Given the description of an element on the screen output the (x, y) to click on. 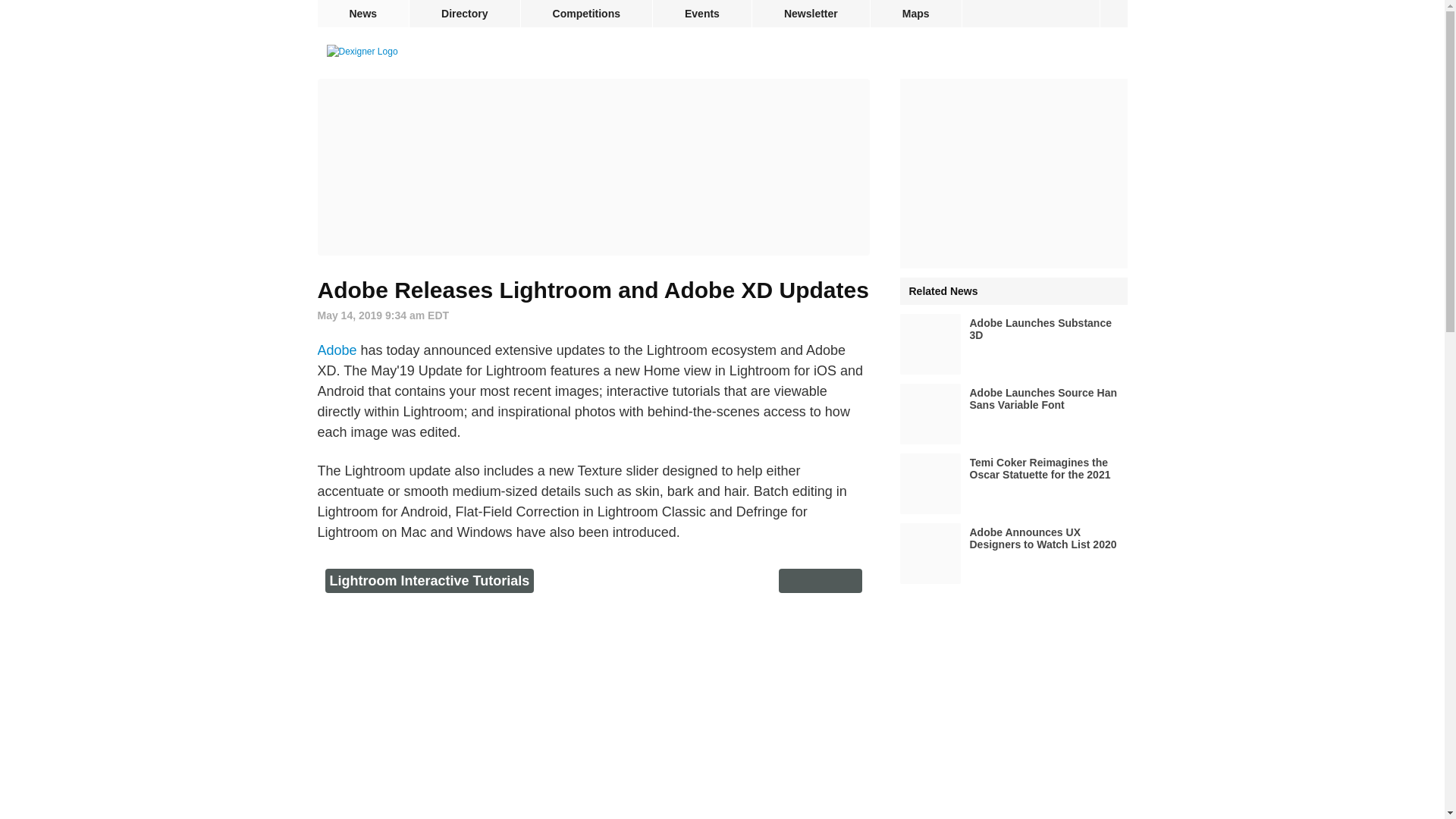
follow dexigner (1112, 13)
Adobe Launches Substance 3D (1012, 343)
Newsletter (810, 13)
Adobe (336, 350)
Adobe Announces UX Designers to Watch List 2020 (1012, 553)
Competitions (586, 13)
Directory (464, 13)
Maps (915, 13)
Events (701, 13)
Adobe Launches Source Han Sans Variable Font (1012, 414)
Dexigner (361, 51)
News (363, 13)
Lightroom Interactive Tutorials (429, 580)
